Given the description of an element on the screen output the (x, y) to click on. 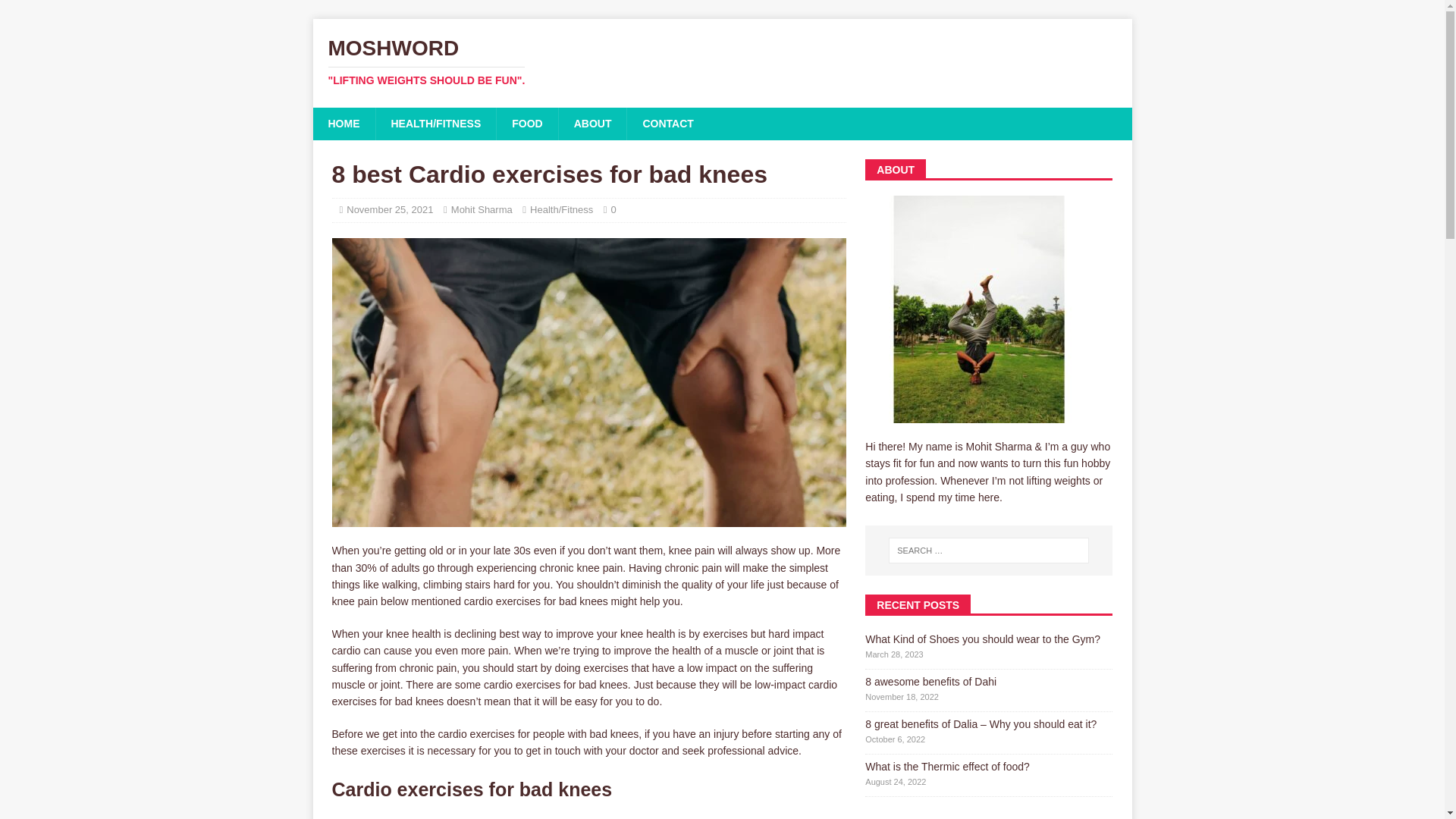
8 awesome benefits of Dahi (929, 681)
What Kind of Shoes you should wear to the Gym? (982, 639)
Mohit Sharma (481, 209)
FOOD (526, 123)
HOME (343, 123)
Search (56, 11)
Moshword (721, 61)
November 25, 2021 (721, 61)
ABOUT (389, 209)
